Given the description of an element on the screen output the (x, y) to click on. 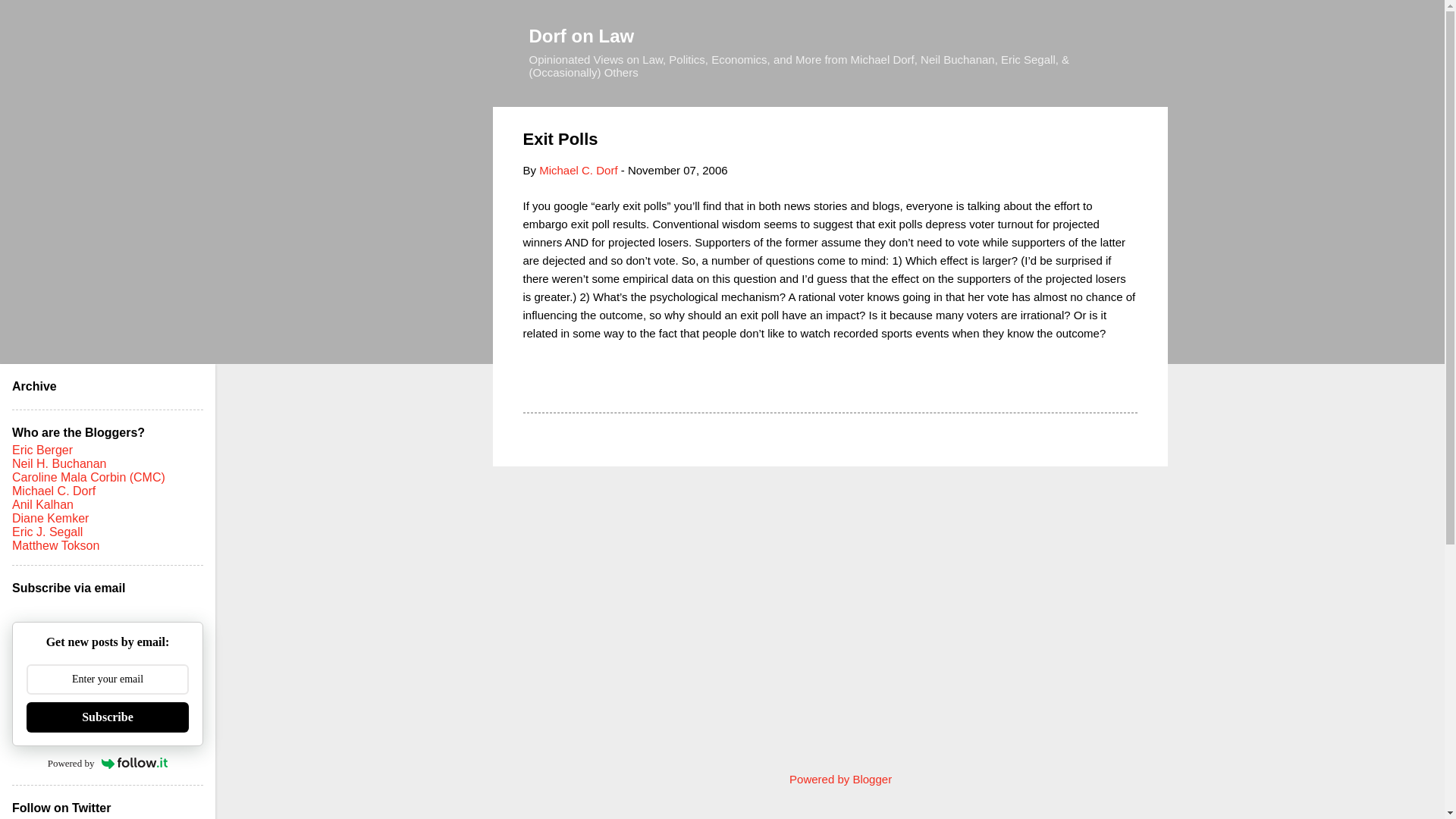
author profile (577, 169)
permanent link (677, 169)
Powered by Blogger (829, 779)
Email Post (562, 385)
Dorf on Law (581, 35)
Search (29, 18)
November 07, 2006 (677, 169)
Michael C. Dorf (577, 169)
